Given the description of an element on the screen output the (x, y) to click on. 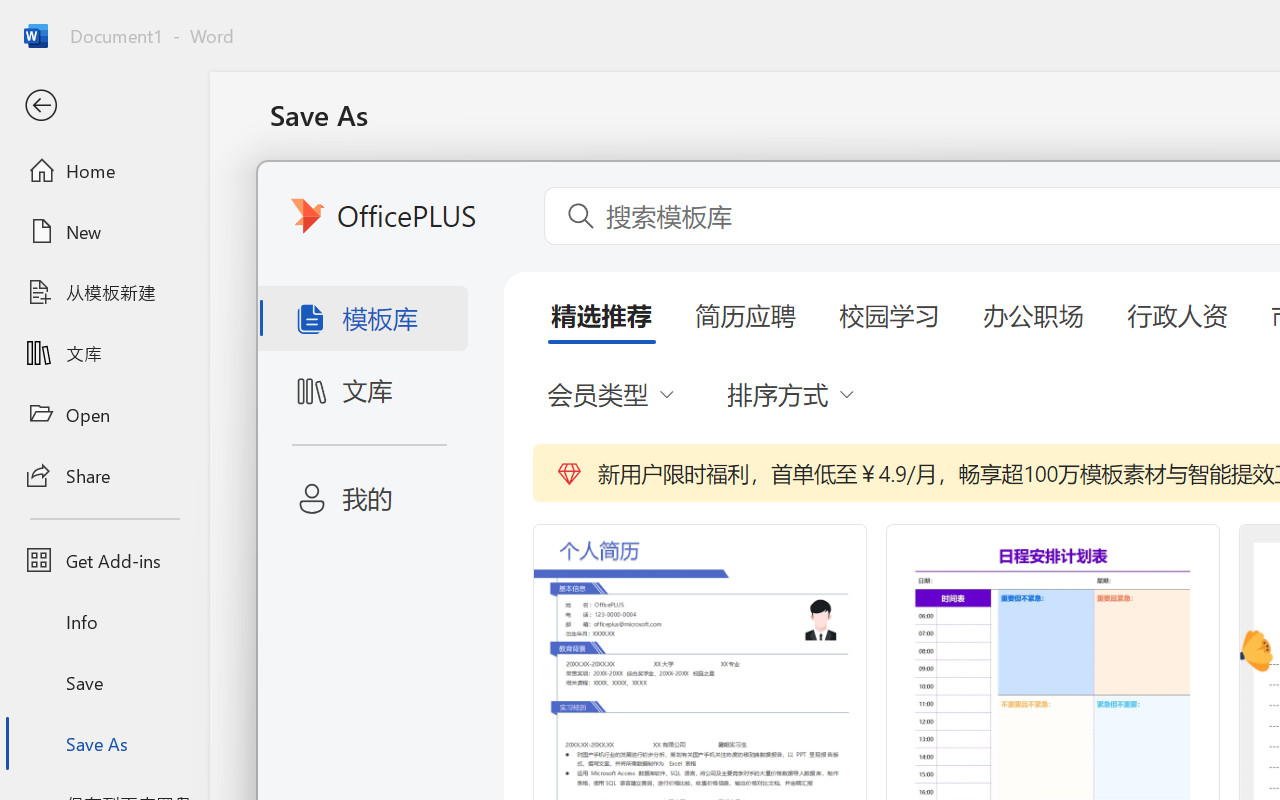
Info (104, 621)
Get Add-ins (104, 560)
New (104, 231)
